Given the description of an element on the screen output the (x, y) to click on. 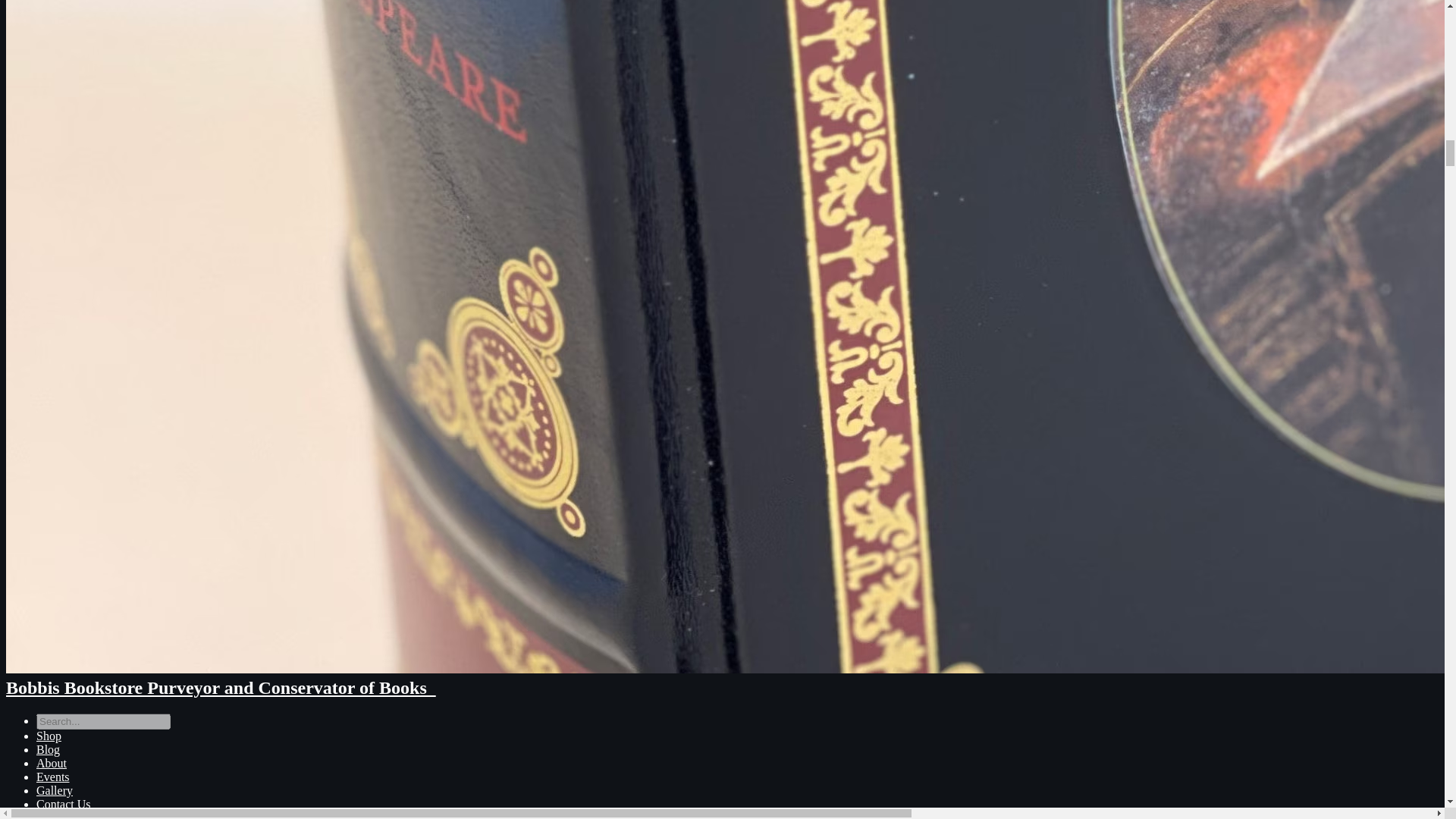
Blog (47, 748)
Events (52, 776)
Shop (48, 735)
Gallery (54, 789)
About (51, 762)
Contact Us (63, 803)
